Given the description of an element on the screen output the (x, y) to click on. 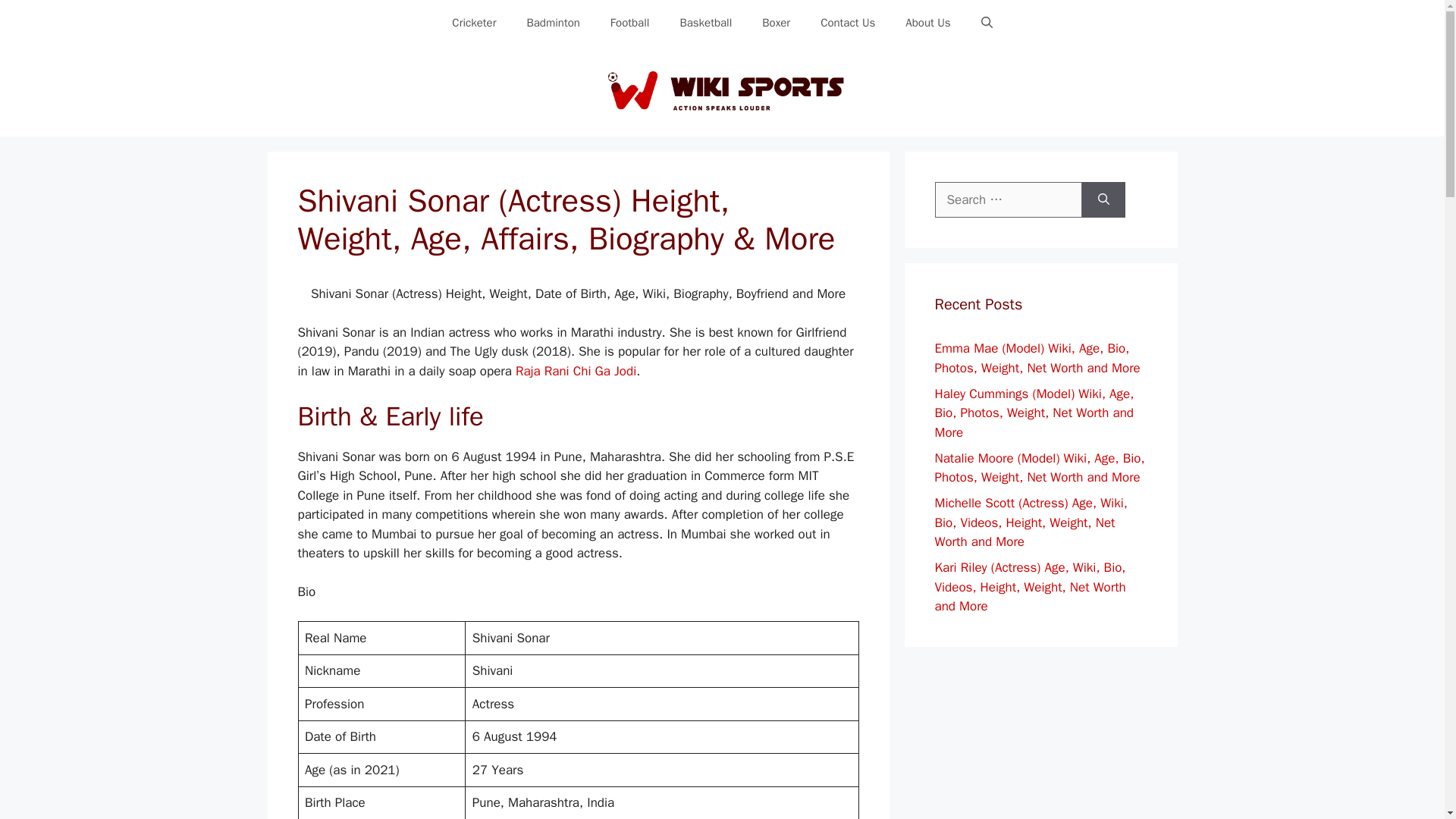
Search for: (1007, 199)
Badminton (552, 22)
About Us (927, 22)
Boxer (775, 22)
Cricketer (473, 22)
Football (630, 22)
Raja Rani Chi Ga Jodi (575, 371)
Contact Us (847, 22)
Basketball (704, 22)
